Given the description of an element on the screen output the (x, y) to click on. 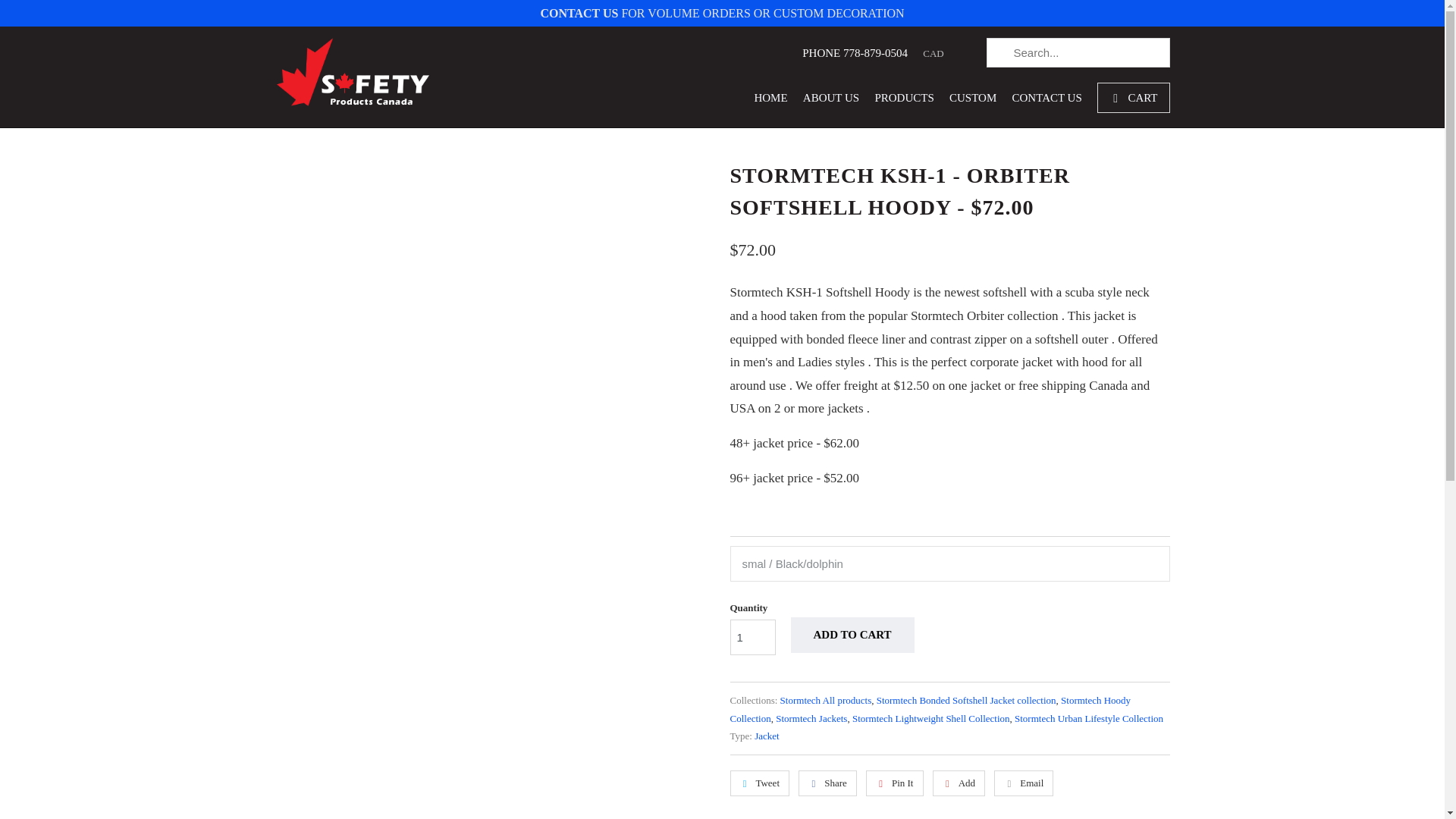
Stormtech Hoody Collection (930, 708)
Jacket (766, 736)
HOME (770, 101)
CUSTOM (972, 101)
Share this on Pinterest (894, 783)
Stormtech Lightweight Shell Collection (930, 717)
Stormtech Bonded Softshell Jacket collection (966, 699)
CONTACT US (578, 12)
Stormtech Urban Lifestyle Collection (1088, 717)
Pin It (894, 783)
